Given the description of an element on the screen output the (x, y) to click on. 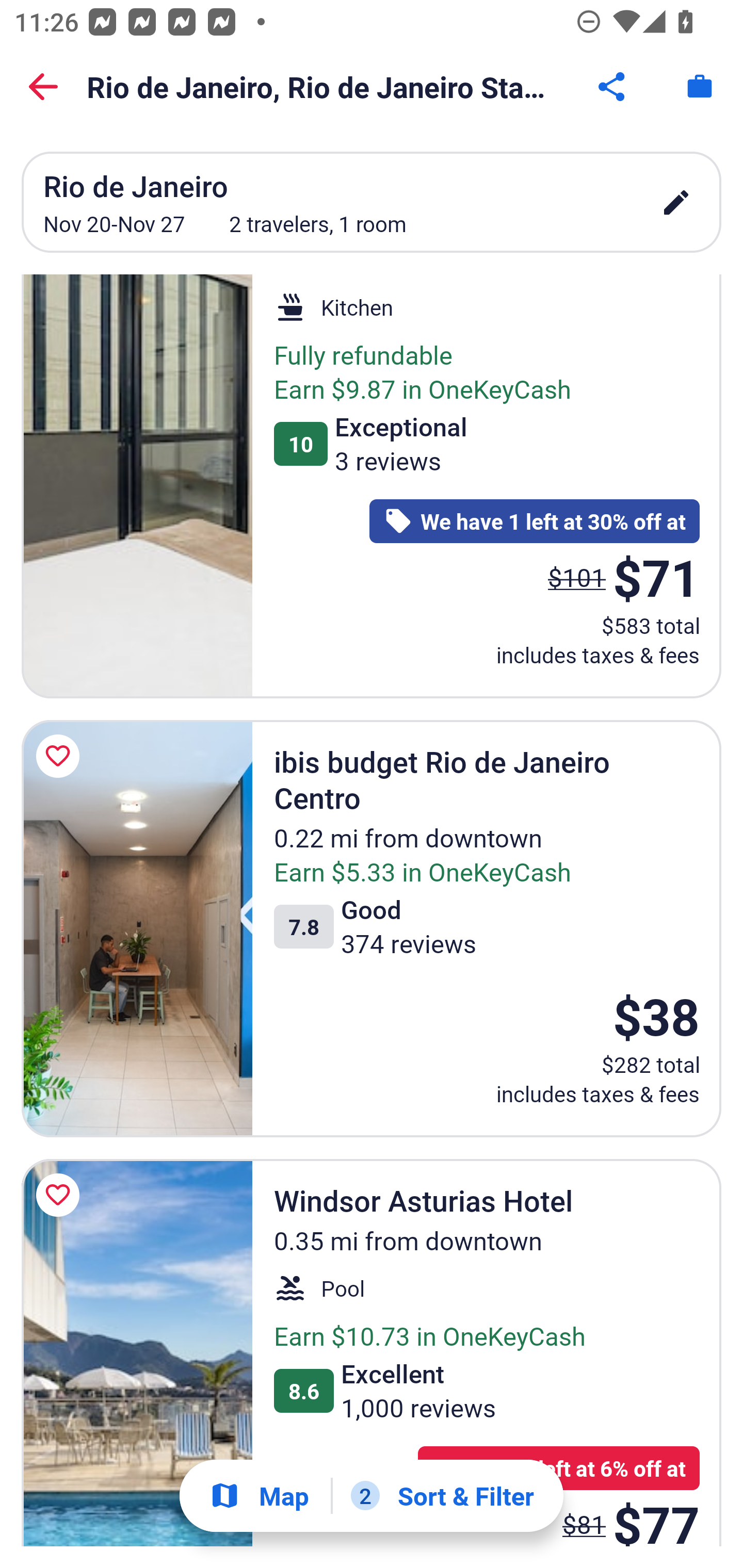
Back (43, 86)
Share Button (612, 86)
Trips. Button (699, 86)
360 Rio Santos Dumont (136, 485)
$101 The price was $101 (576, 576)
Save ibis budget Rio de Janeiro Centro to a trip (61, 756)
ibis budget Rio de Janeiro Centro (136, 927)
Save Windsor Asturias Hotel to a trip (61, 1195)
Windsor Asturias Hotel (136, 1352)
2 Sort & Filter 2 Filters applied. Filters Button (442, 1495)
Show map Map Show map Button (258, 1495)
$81 The price was $81 (583, 1513)
